Given the description of an element on the screen output the (x, y) to click on. 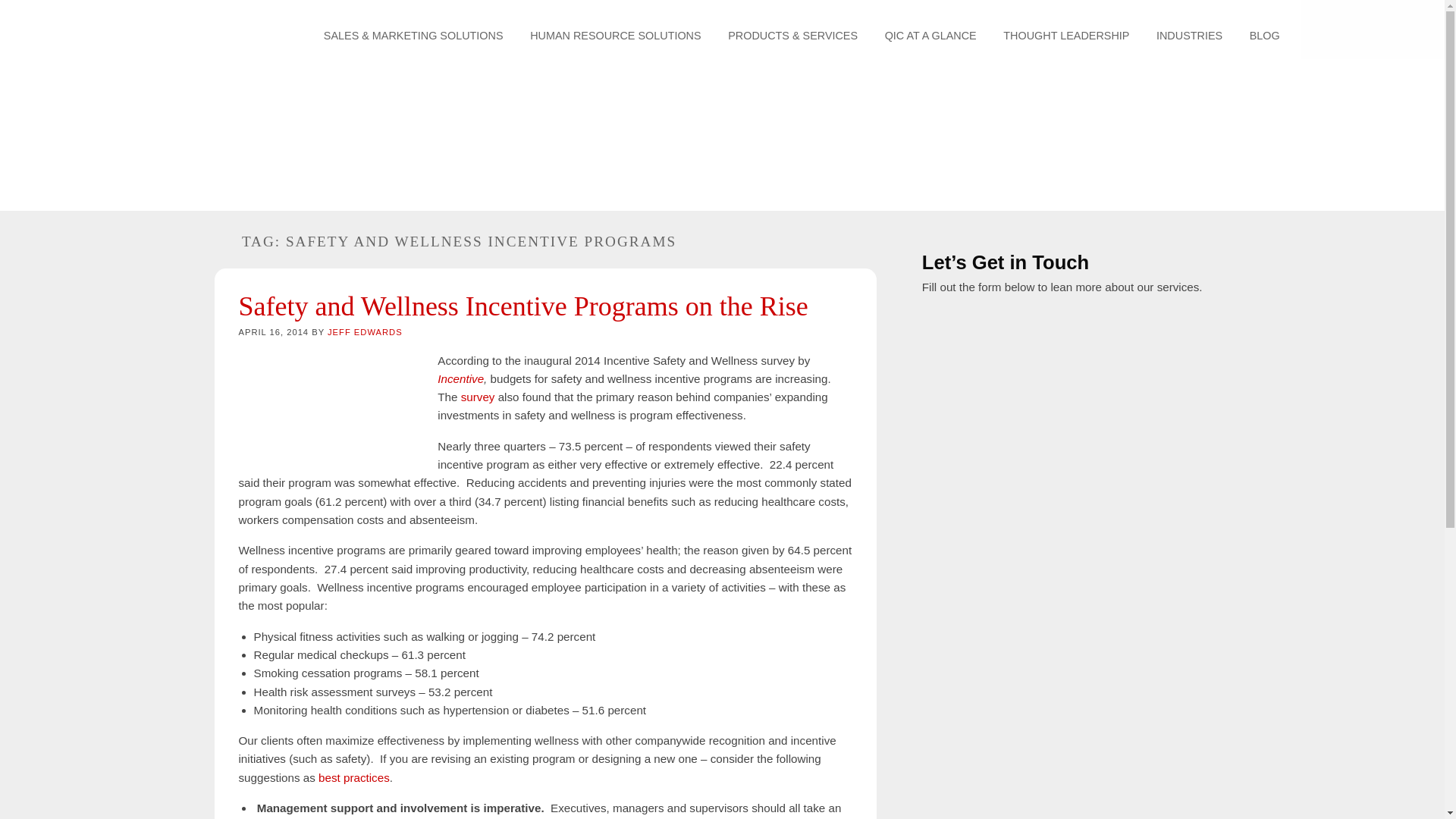
Posts by Jeff Edwards (365, 331)
safety and wellness incentive programs (329, 406)
Safety and Wellness Incentive Programs on the Rise (523, 306)
